Given the description of an element on the screen output the (x, y) to click on. 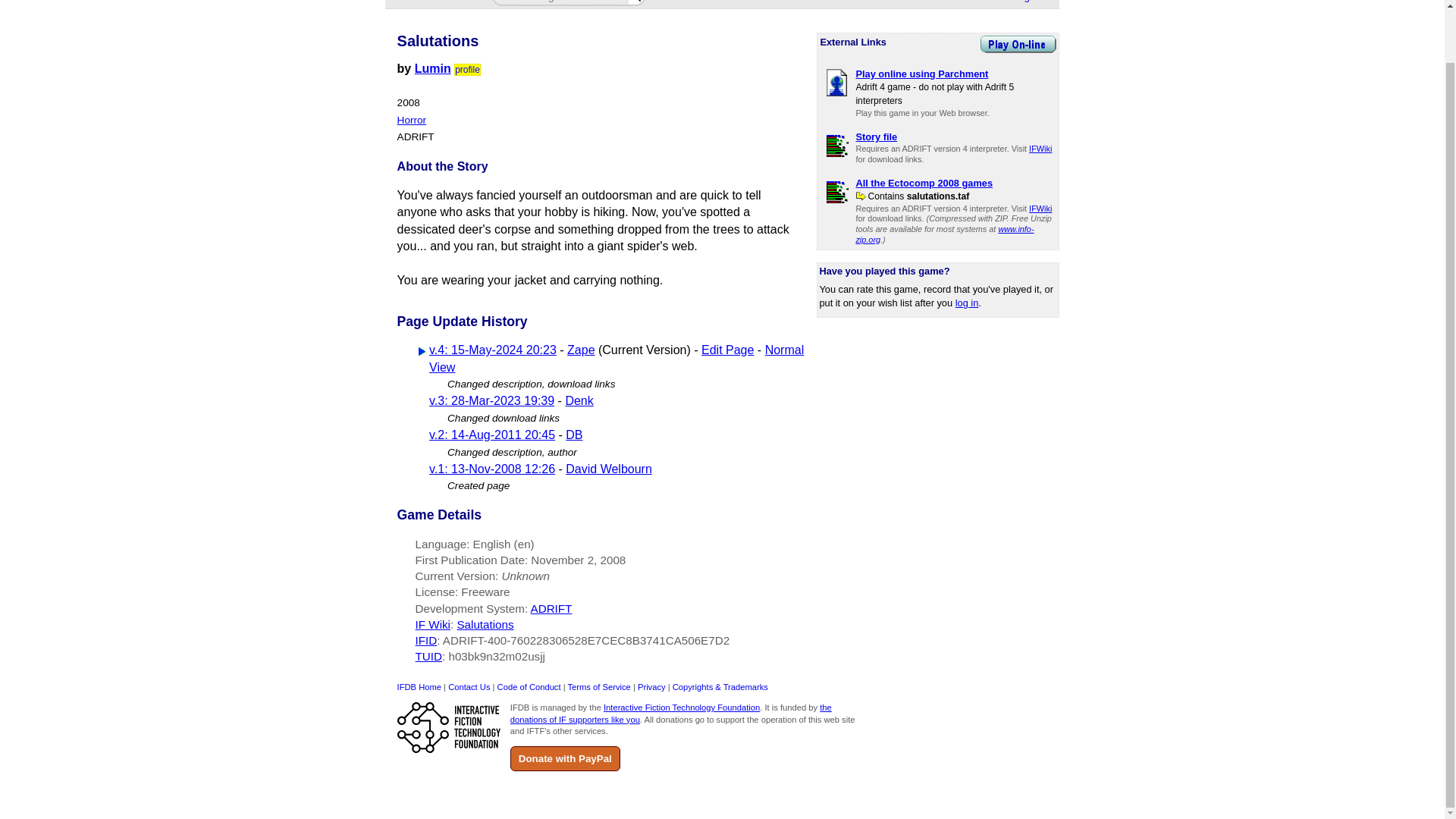
All the Ectocomp 2008 games (924, 183)
DB (574, 434)
v.2: 14-Aug-2011 20:45 (491, 434)
Browse (461, 3)
Donate with PayPal (565, 758)
IF Wiki (431, 624)
v.3: 28-Mar-2023 19:39 (491, 400)
IFID (426, 640)
David Welbourn (609, 468)
Lumin (432, 68)
